Given the description of an element on the screen output the (x, y) to click on. 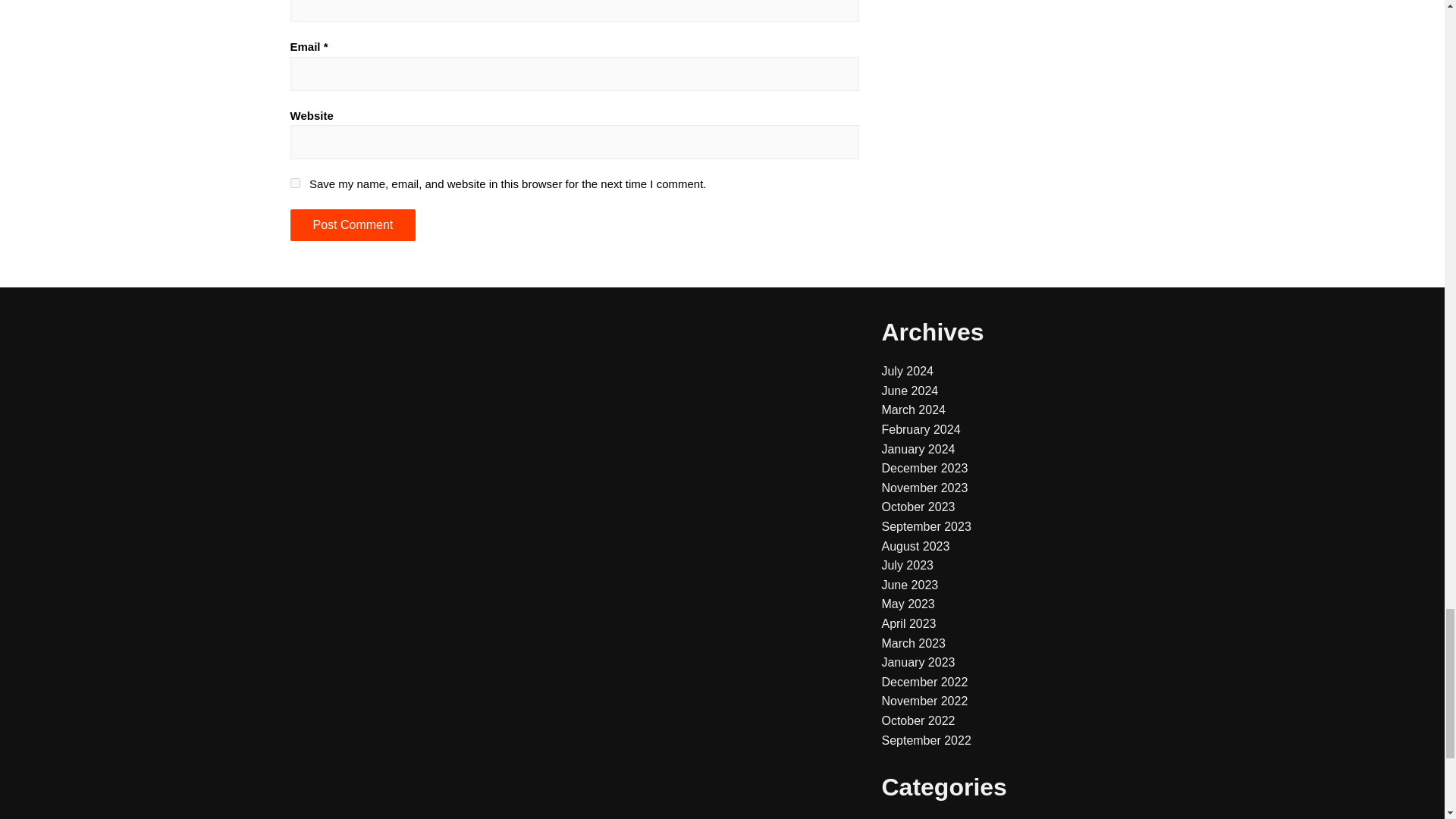
yes (294, 183)
Post Comment (351, 224)
